Given the description of an element on the screen output the (x, y) to click on. 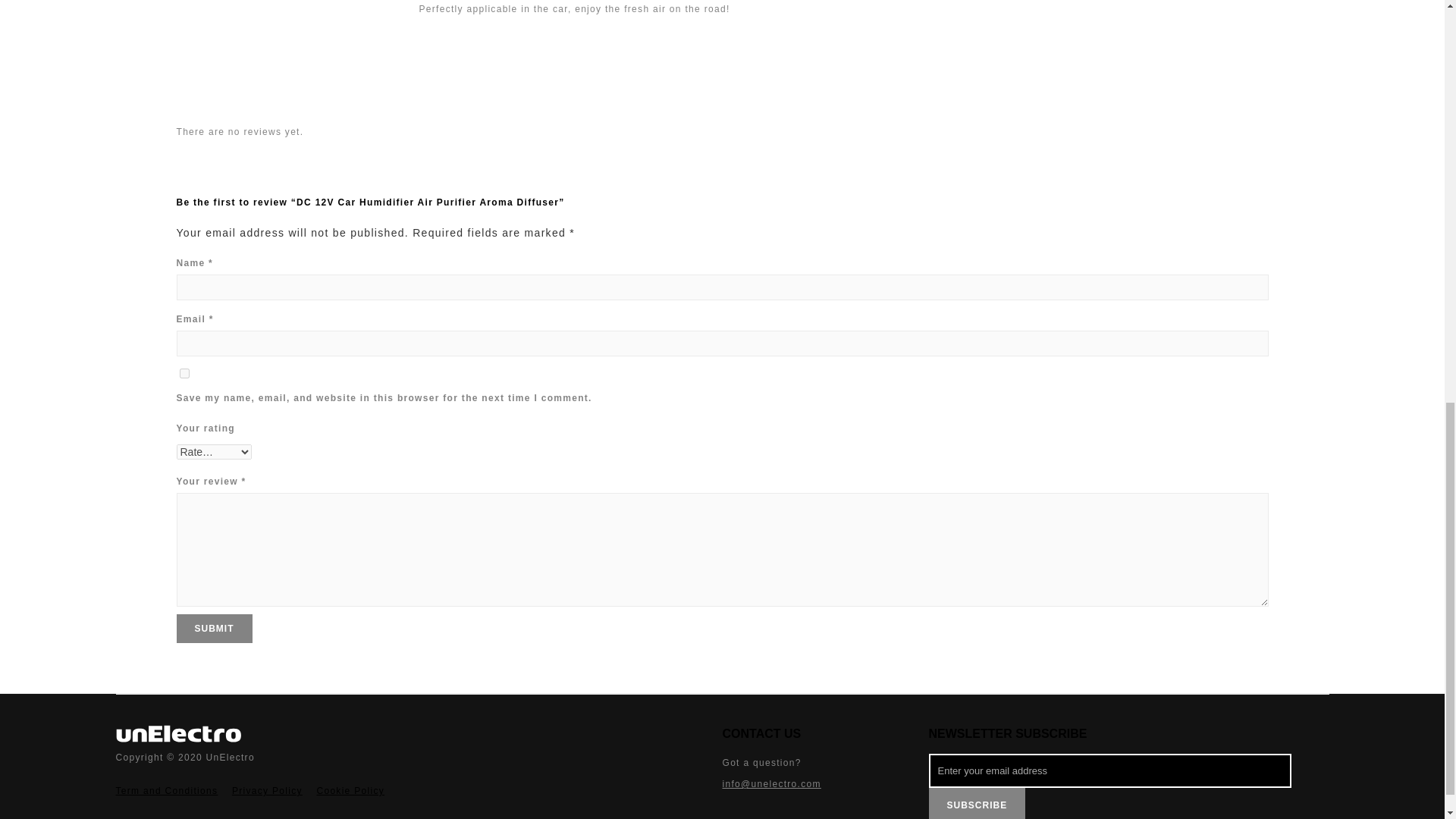
Privacy Policy (267, 790)
Submit (213, 628)
Subscribe (976, 803)
yes (184, 373)
Submit (213, 628)
Subscribe (976, 803)
Term and Conditions (168, 790)
Cookie Policy (350, 790)
